Given the description of an element on the screen output the (x, y) to click on. 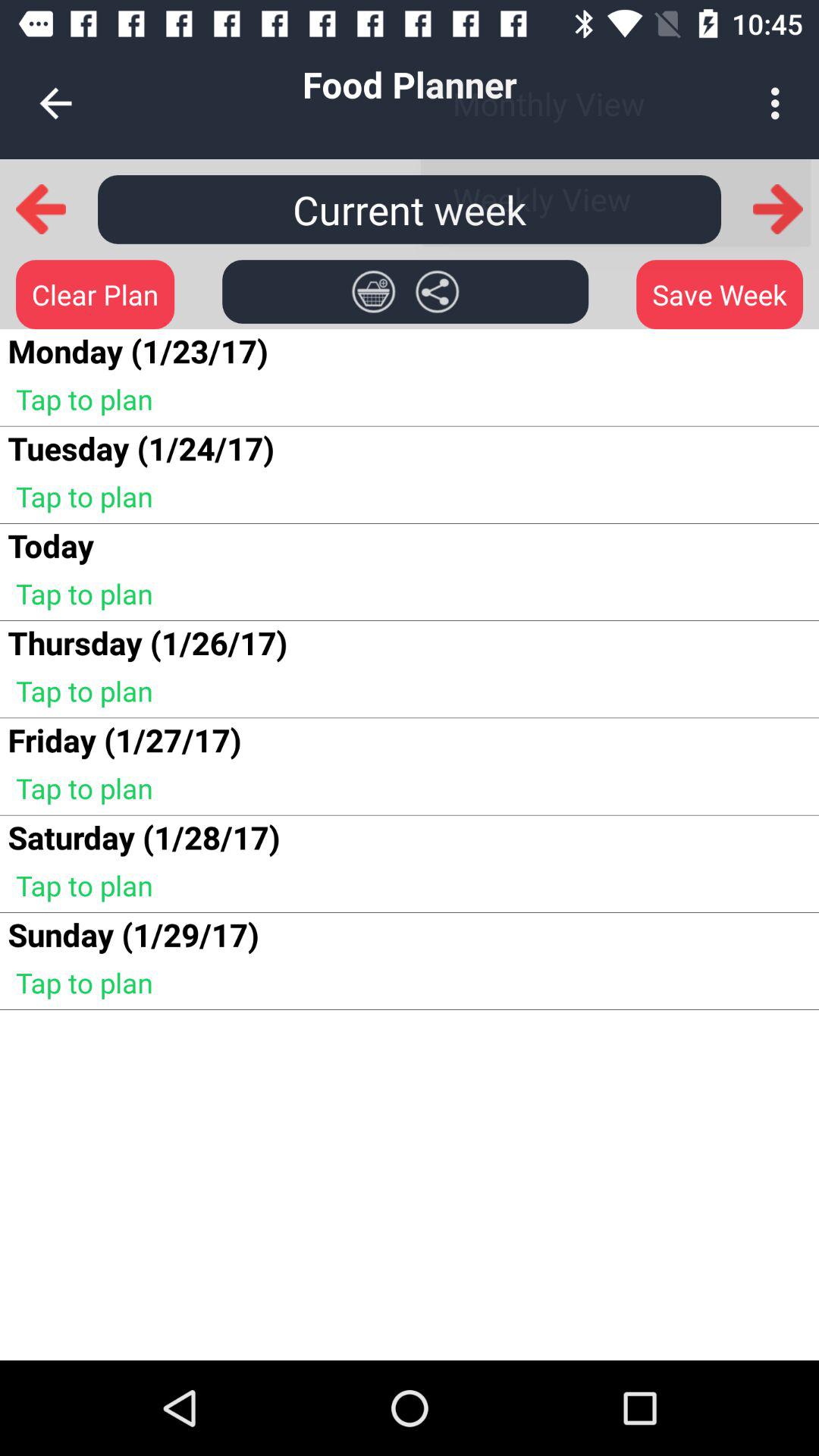
share option (437, 291)
